Given the description of an element on the screen output the (x, y) to click on. 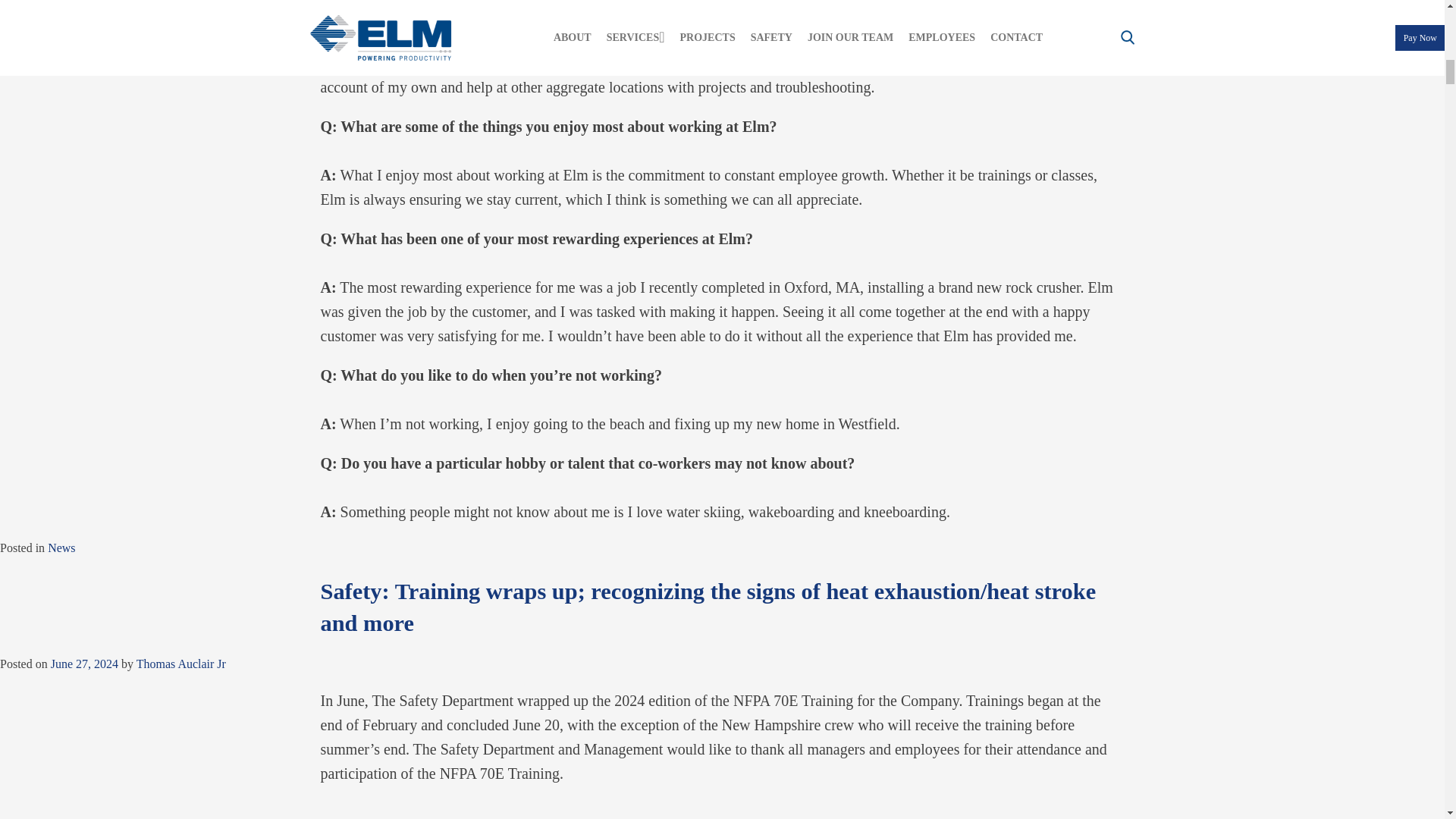
June 27, 2024 (83, 663)
Thomas Auclair Jr (180, 663)
News (61, 547)
